Given the description of an element on the screen output the (x, y) to click on. 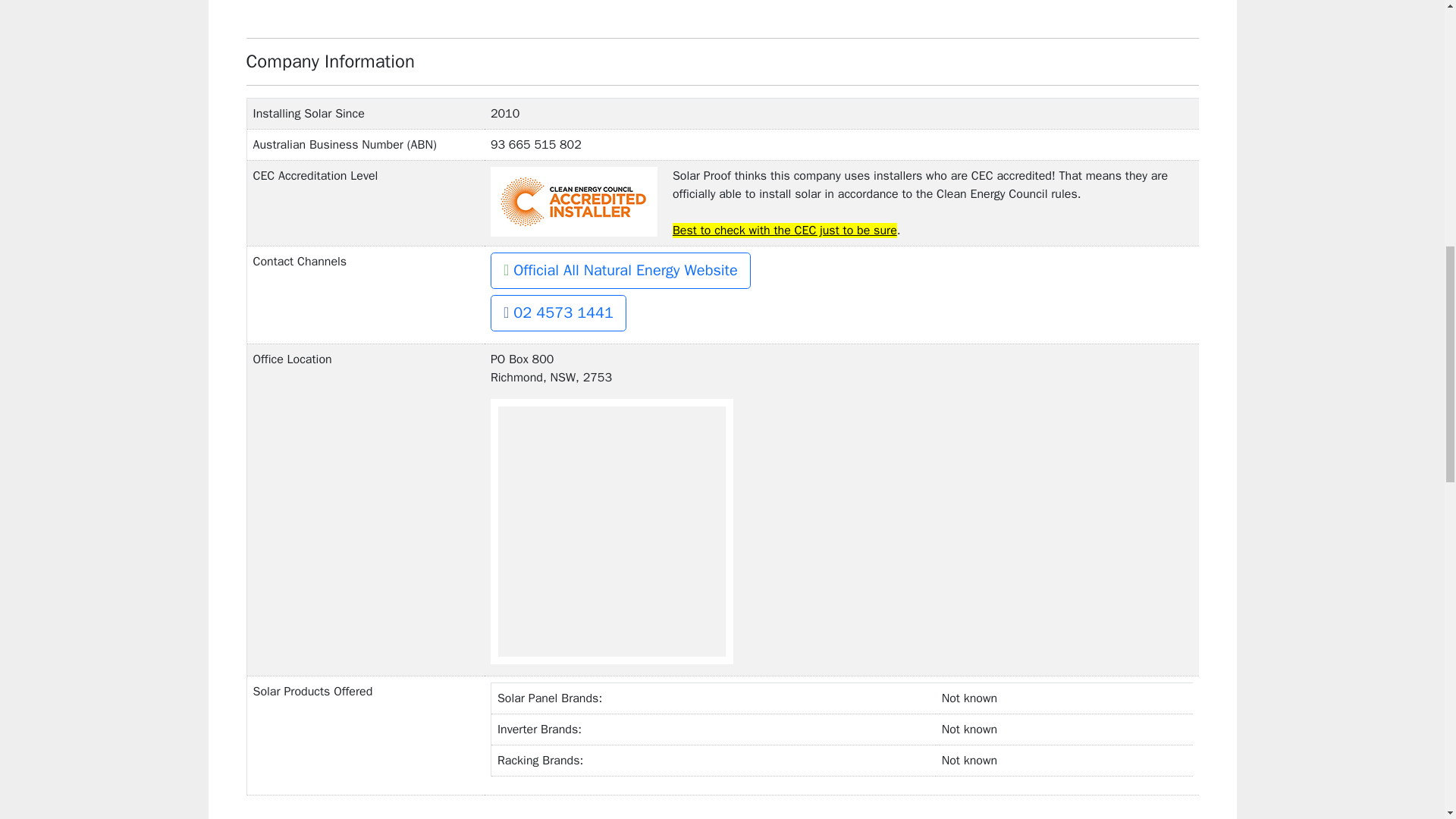
Best to check with the CEC just to be sure (784, 230)
02 4573 1441 (558, 312)
Official All Natural Energy Website (620, 270)
